Given the description of an element on the screen output the (x, y) to click on. 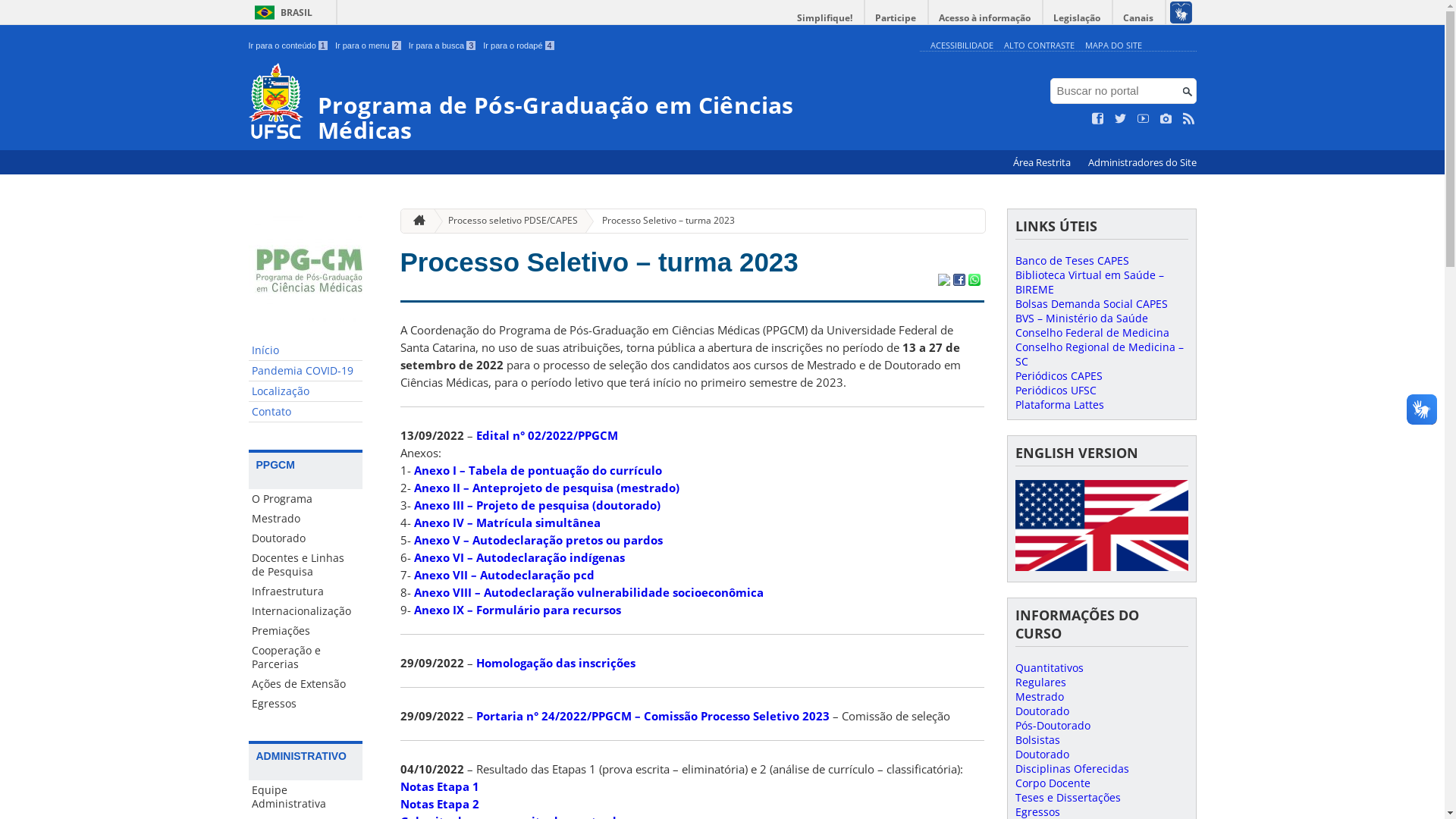
Administradores do Site Element type: text (1141, 162)
Egressos Element type: text (305, 703)
Infraestrutura Element type: text (305, 591)
Doutorado Element type: text (1041, 710)
Equipe Administrativa Element type: text (305, 796)
Ir para o menu 2 Element type: text (368, 45)
Pandemia COVID-19 Element type: text (305, 370)
Mestrado Element type: text (305, 518)
Conselho Federal de Medicina Element type: text (1091, 332)
Veja no Instagram Element type: hover (1166, 118)
Ir para a busca 3 Element type: text (442, 45)
Compartilhar no Twitter Element type: hover (943, 280)
Notas Etapa 1 Element type: text (439, 785)
Contato Element type: text (305, 411)
Processo seletivo PDSE/CAPES Element type: text (506, 220)
ACESSIBILIDADE Element type: text (960, 44)
Siga no Twitter Element type: hover (1120, 118)
Compartilhar no WhatsApp Element type: hover (973, 280)
ALTO CONTRASTE Element type: text (1039, 44)
Canais Element type: text (1138, 18)
BRASIL Element type: text (280, 12)
Mestrado Element type: text (1038, 696)
Docentes e Linhas de Pesquisa Element type: text (305, 564)
Compartilhar no Facebook Element type: hover (958, 280)
Corpo Docente Element type: text (1051, 782)
Bolsistas Element type: text (1036, 739)
Bolsas Demanda Social CAPES Element type: text (1090, 303)
O Programa Element type: text (305, 498)
Quantitativos Element type: text (1048, 667)
Regulares Element type: text (1039, 681)
Disciplinas Oferecidas Element type: text (1071, 768)
Participe Element type: text (895, 18)
Plataforma Lattes Element type: text (1058, 404)
Banco de Teses CAPES Element type: text (1071, 260)
Notas Etapa 2 Element type: text (439, 803)
Doutorado Element type: text (1041, 753)
Doutorado Element type: text (305, 538)
MAPA DO SITE Element type: text (1112, 44)
Curta no Facebook Element type: hover (1098, 118)
Simplifique! Element type: text (825, 18)
